Given the description of an element on the screen output the (x, y) to click on. 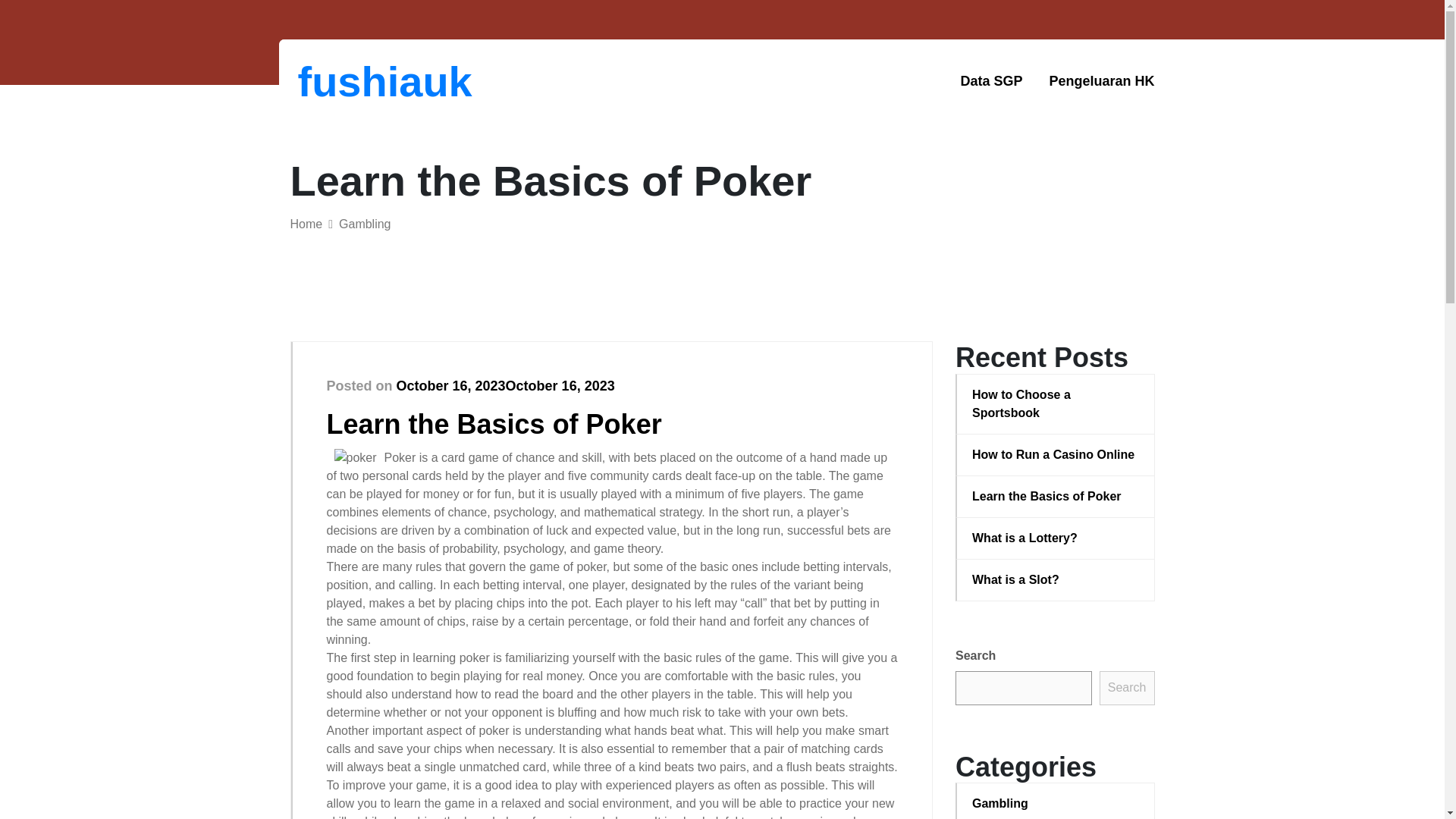
Search (1126, 687)
Pengeluaran HK (1101, 81)
Home (305, 223)
Gambling (364, 223)
Data SGP (990, 81)
What is a Lottery? (1055, 538)
Pengeluaran HK (1101, 81)
October 16, 2023October 16, 2023 (505, 385)
Gambling (1055, 803)
Learn the Basics of Poker (493, 423)
How to Choose a Sportsbook (1055, 403)
Data SGP (990, 81)
Learn the Basics of Poker (1055, 496)
What is a Slot? (1055, 579)
How to Run a Casino Online (1055, 454)
